Given the description of an element on the screen output the (x, y) to click on. 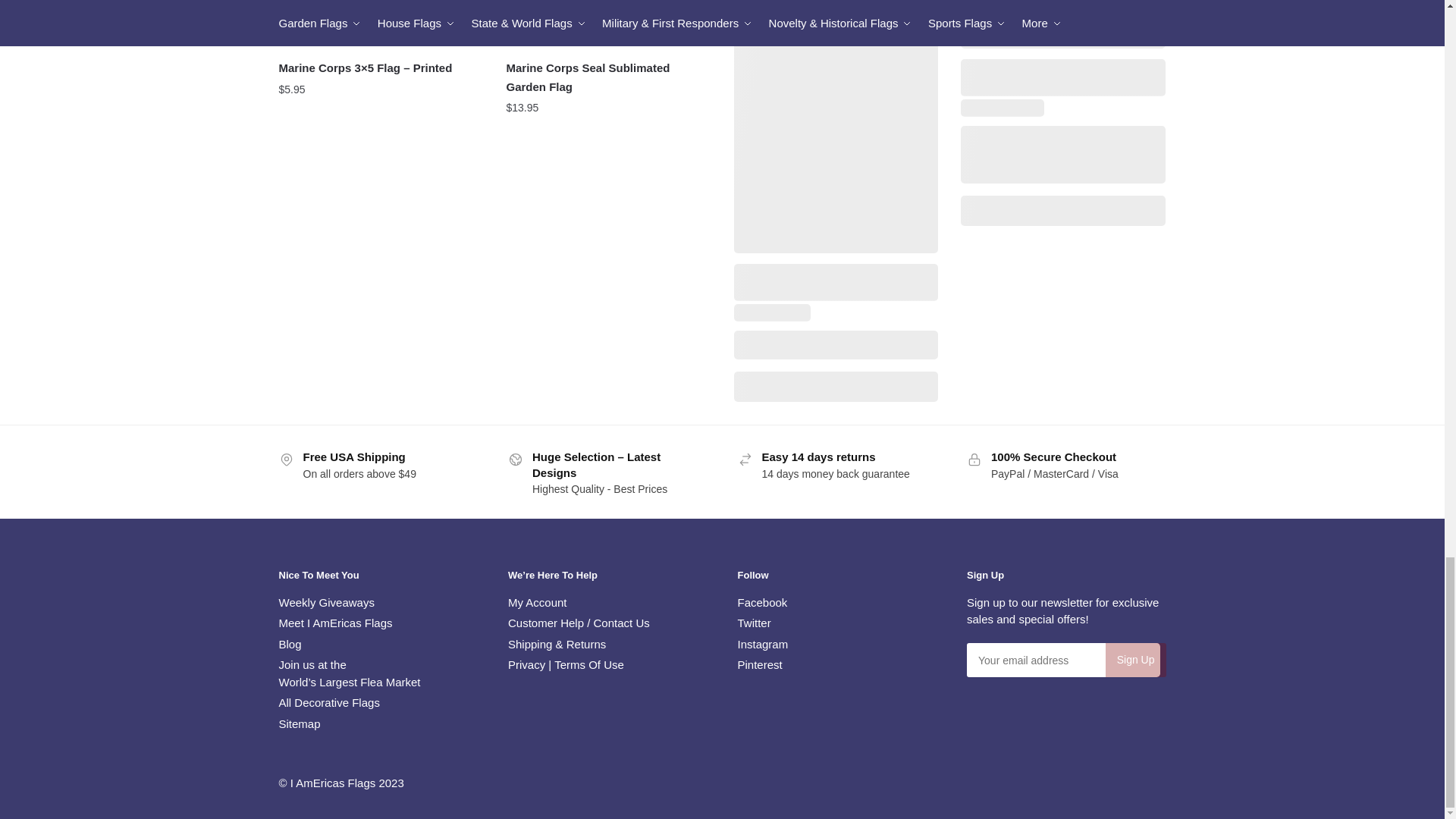
Sign up (1135, 659)
Marine Corps Seal Sublimated Garden Flag (608, 24)
